Given the description of an element on the screen output the (x, y) to click on. 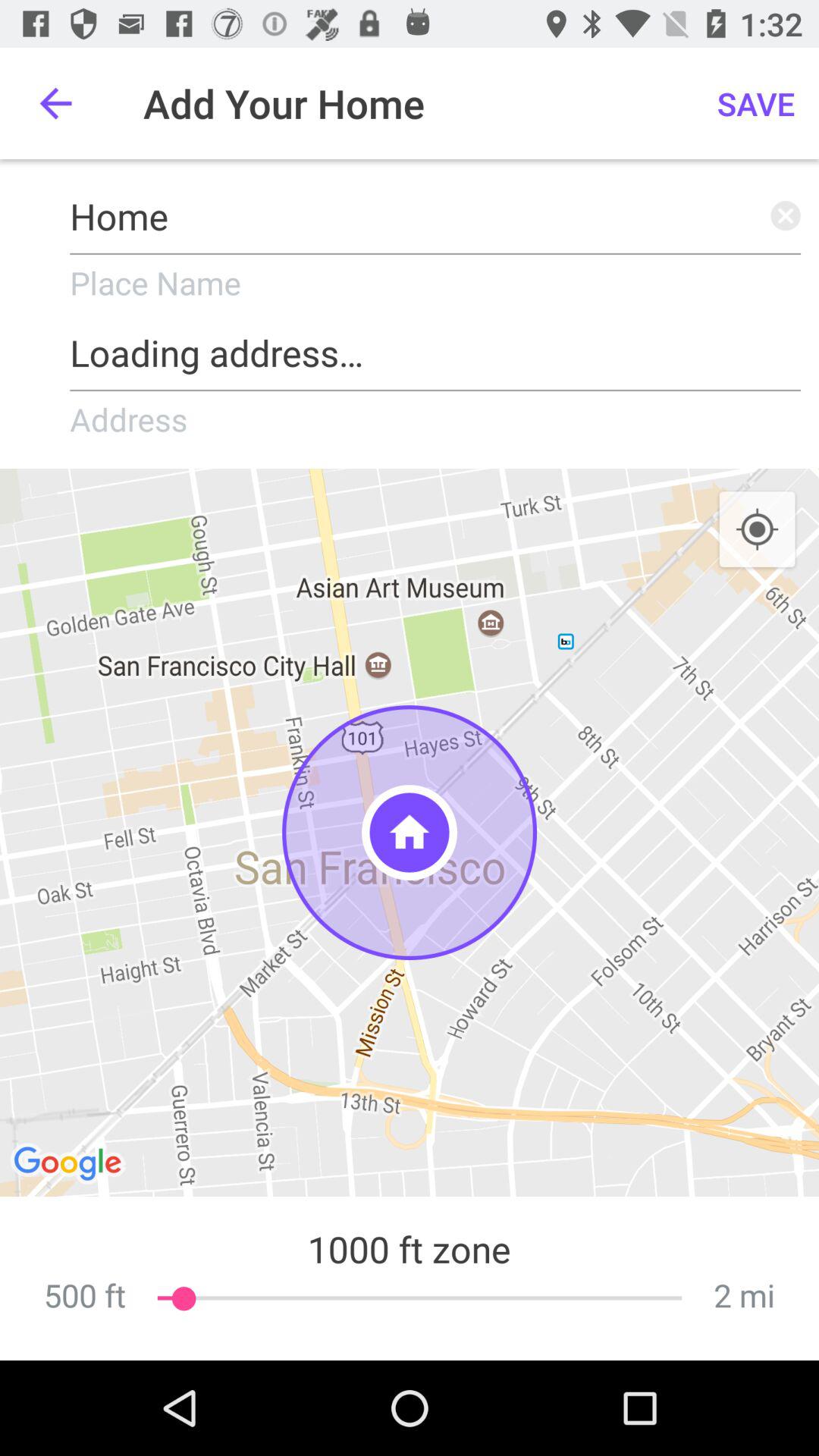
choose the item above the 1000 ft zone item (409, 832)
